Given the description of an element on the screen output the (x, y) to click on. 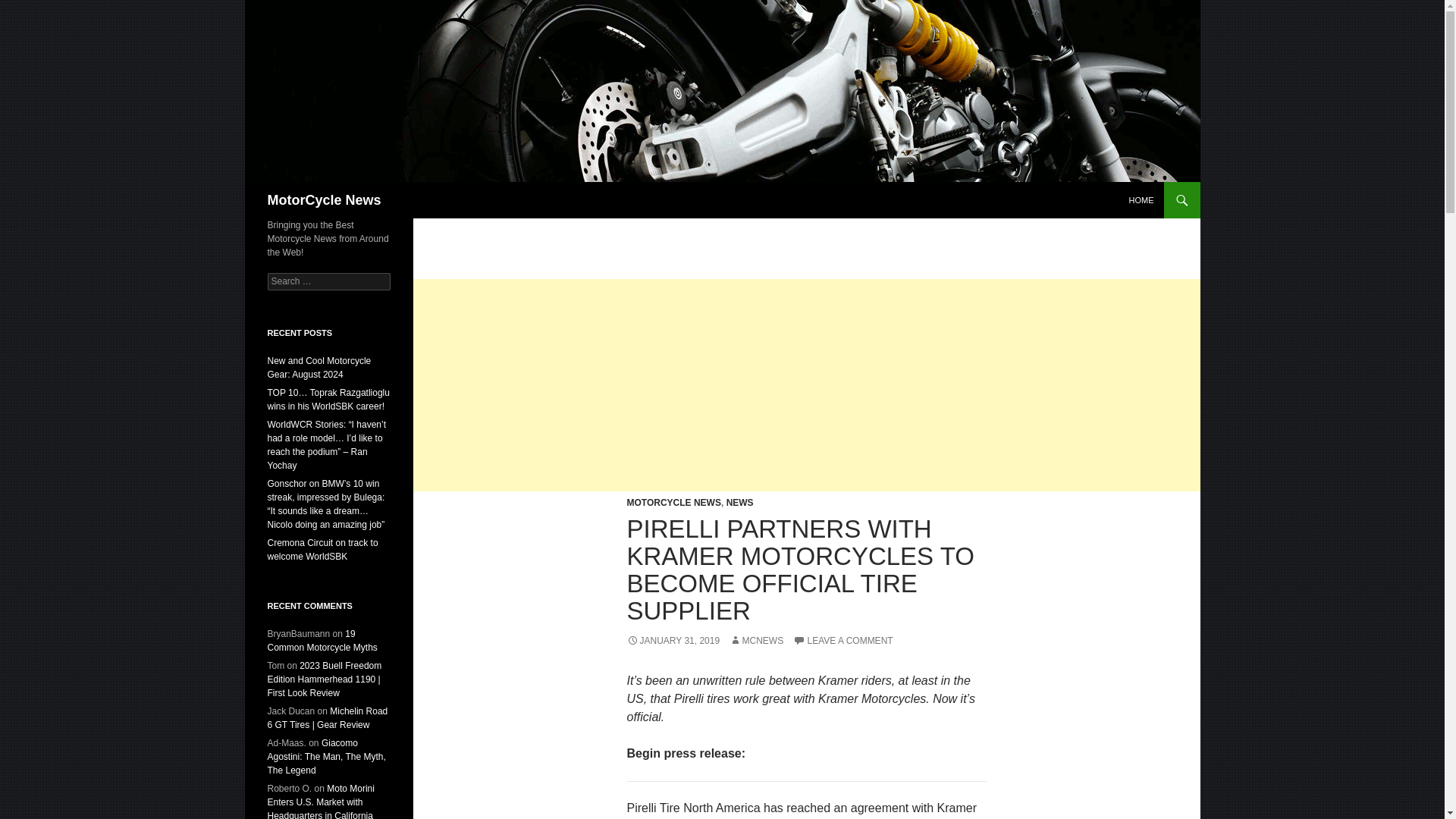
MOTORCYCLE NEWS (673, 502)
JANUARY 31, 2019 (672, 640)
MotorCycle News (323, 199)
Search (30, 8)
New and Cool Motorcycle Gear: August 2024 (318, 367)
LEAVE A COMMENT (842, 640)
Giacomo Agostini: The Man, The Myth, The Legend (325, 756)
HOME (1140, 199)
MCNEWS (756, 640)
NEWS (740, 502)
19 Common Motorcycle Myths (321, 640)
Cremona Circuit on track to welcome WorldSBK (321, 549)
